Given the description of an element on the screen output the (x, y) to click on. 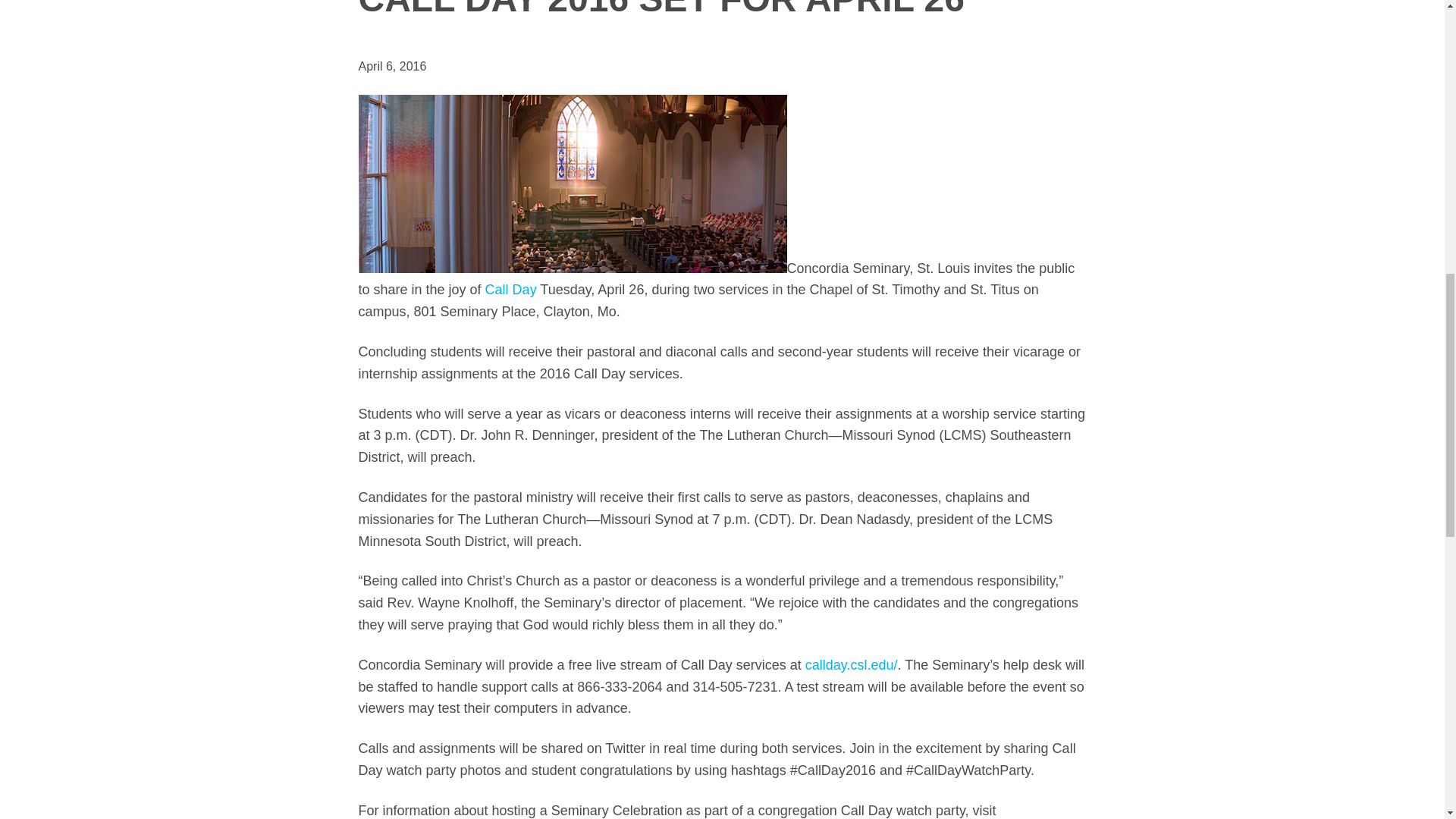
Call Day (510, 289)
